Given the description of an element on the screen output the (x, y) to click on. 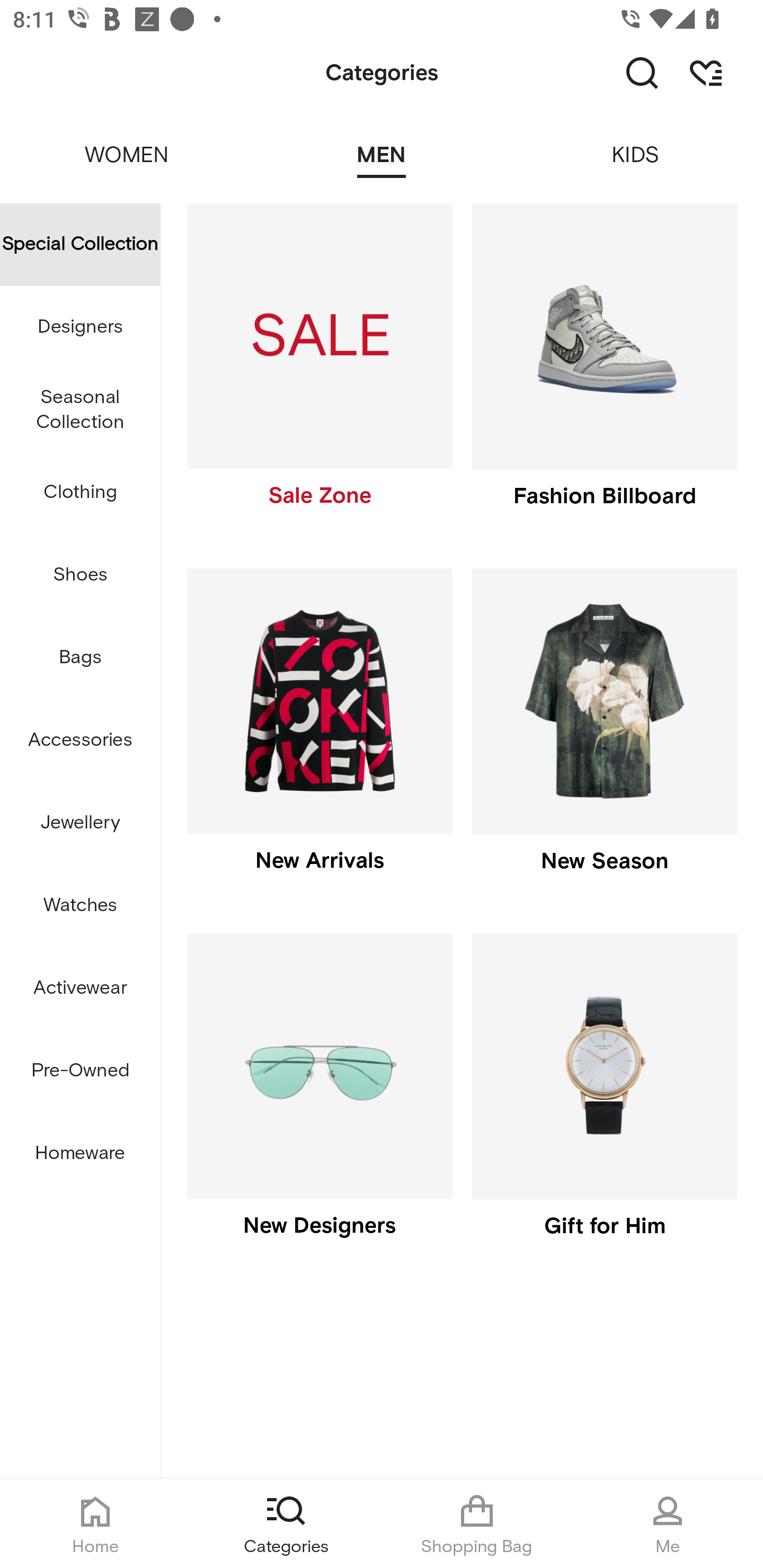
WOMEN (127, 143)
KIDS (635, 143)
Special Collection (80, 244)
Sale Zone (319, 369)
Fashion Billboard (604, 369)
Designers (80, 326)
Seasonal Collection (80, 409)
Clothing (80, 492)
Shoes (80, 575)
New Arrivals (319, 734)
New Season (604, 734)
Bags (80, 657)
Accessories (80, 740)
Jewellery (80, 822)
Watches (80, 905)
New Designers (319, 1099)
Gift for Him (604, 1099)
Activewear (80, 988)
Pre-Owned (80, 1070)
Homeware (80, 1152)
Home (95, 1523)
Shopping Bag (476, 1523)
Me (667, 1523)
